Given the description of an element on the screen output the (x, y) to click on. 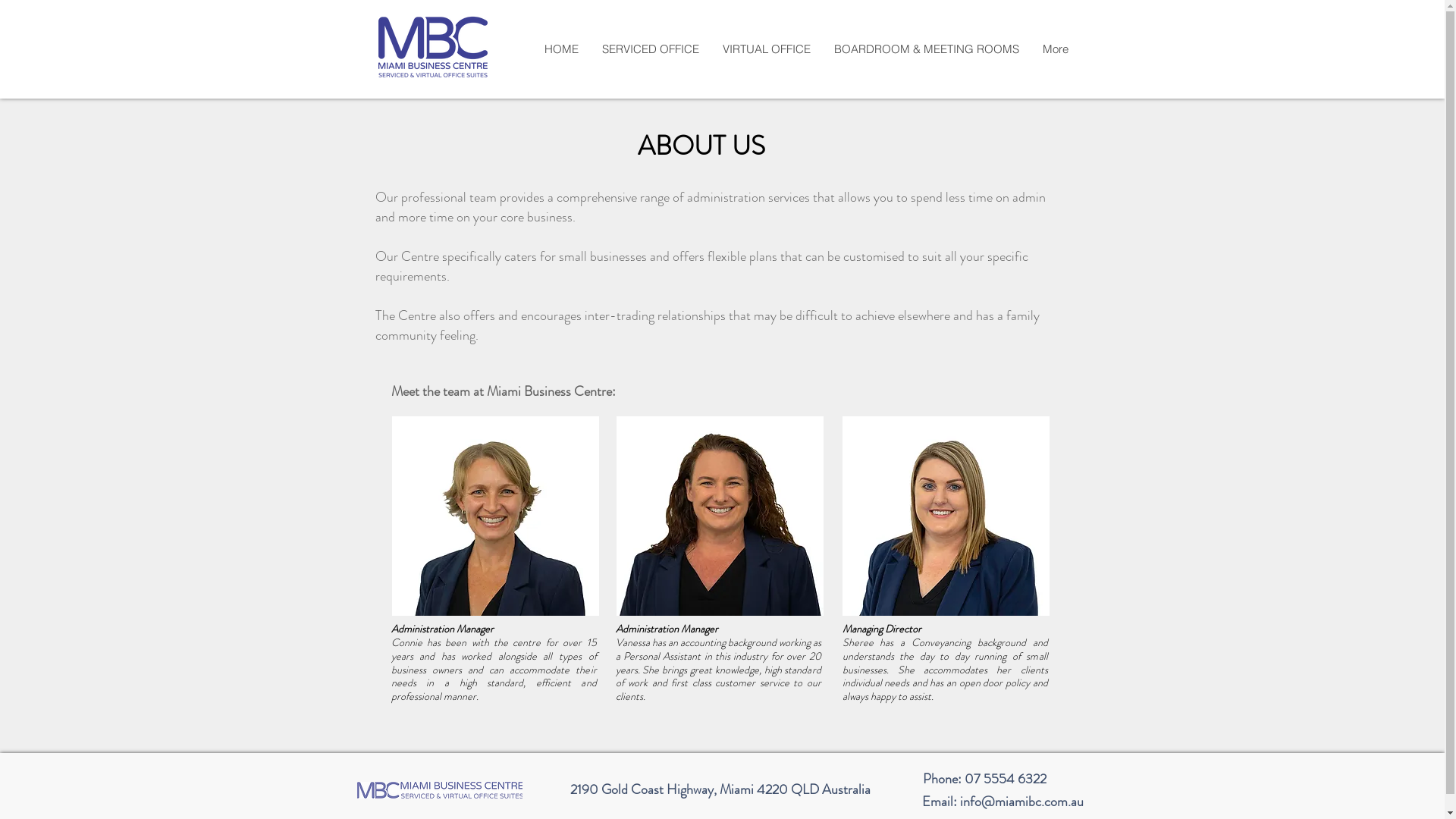
SERVICED OFFICE Element type: text (649, 48)
HOME Element type: text (560, 48)
 Phone: 07 5554 6322 Element type: text (982, 778)
2190 Gold Coast Highway, Miami 4220 QLD Australia Element type: text (720, 789)
  Email: info@miamibc.com.au Element type: text (999, 801)
MBC Full logo stacked.png Element type: hover (431, 46)
BOARDROOM & MEETING ROOMS Element type: text (926, 48)
VIRTUAL OFFICE Element type: text (765, 48)
